Given the description of an element on the screen output the (x, y) to click on. 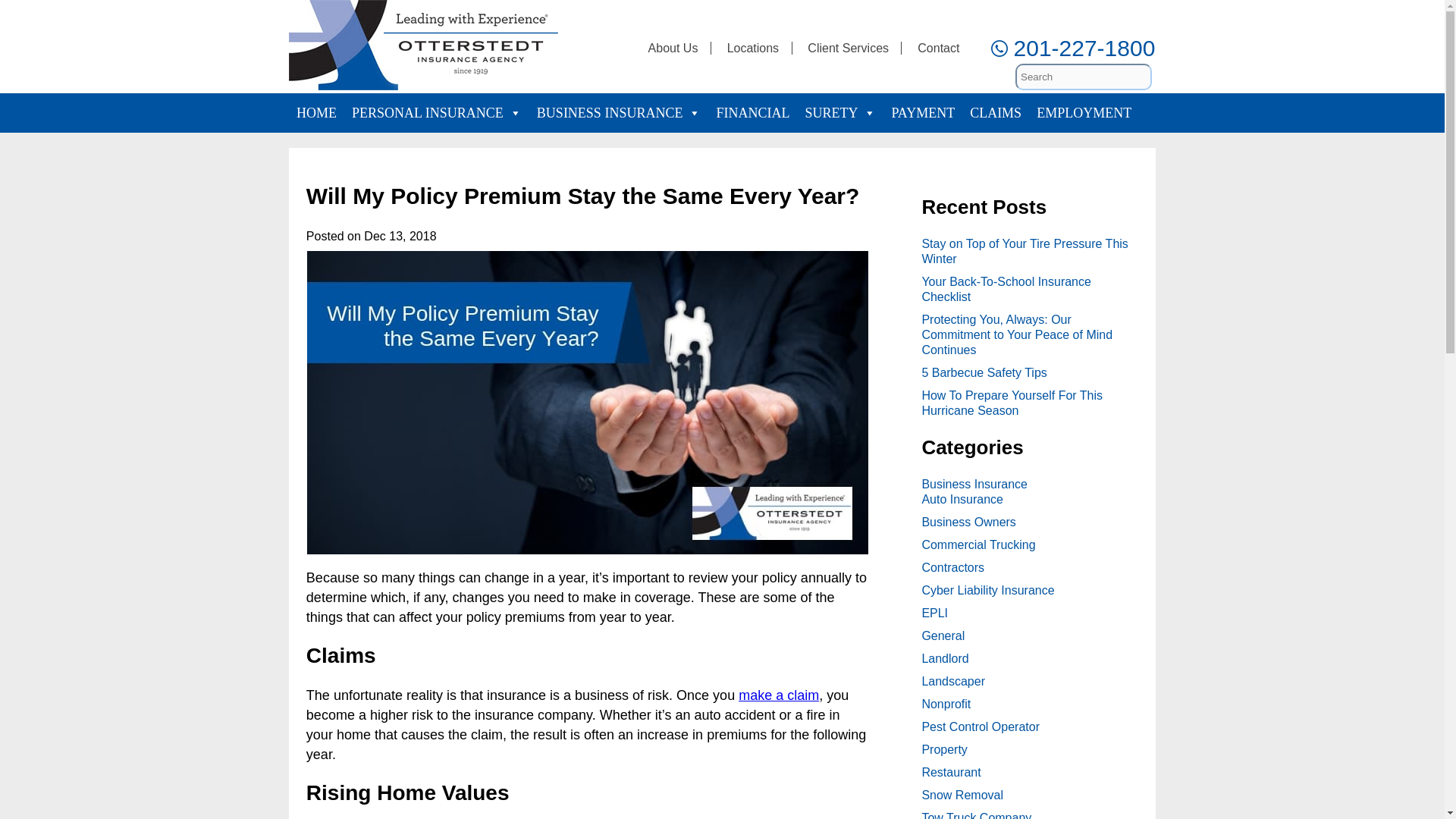
Contact (938, 47)
BUSINESS INSURANCE (619, 112)
personal (436, 112)
Client Services (848, 47)
PERSONAL INSURANCE (436, 112)
About Us (672, 47)
Locations (752, 47)
HOME (315, 112)
